Given the description of an element on the screen output the (x, y) to click on. 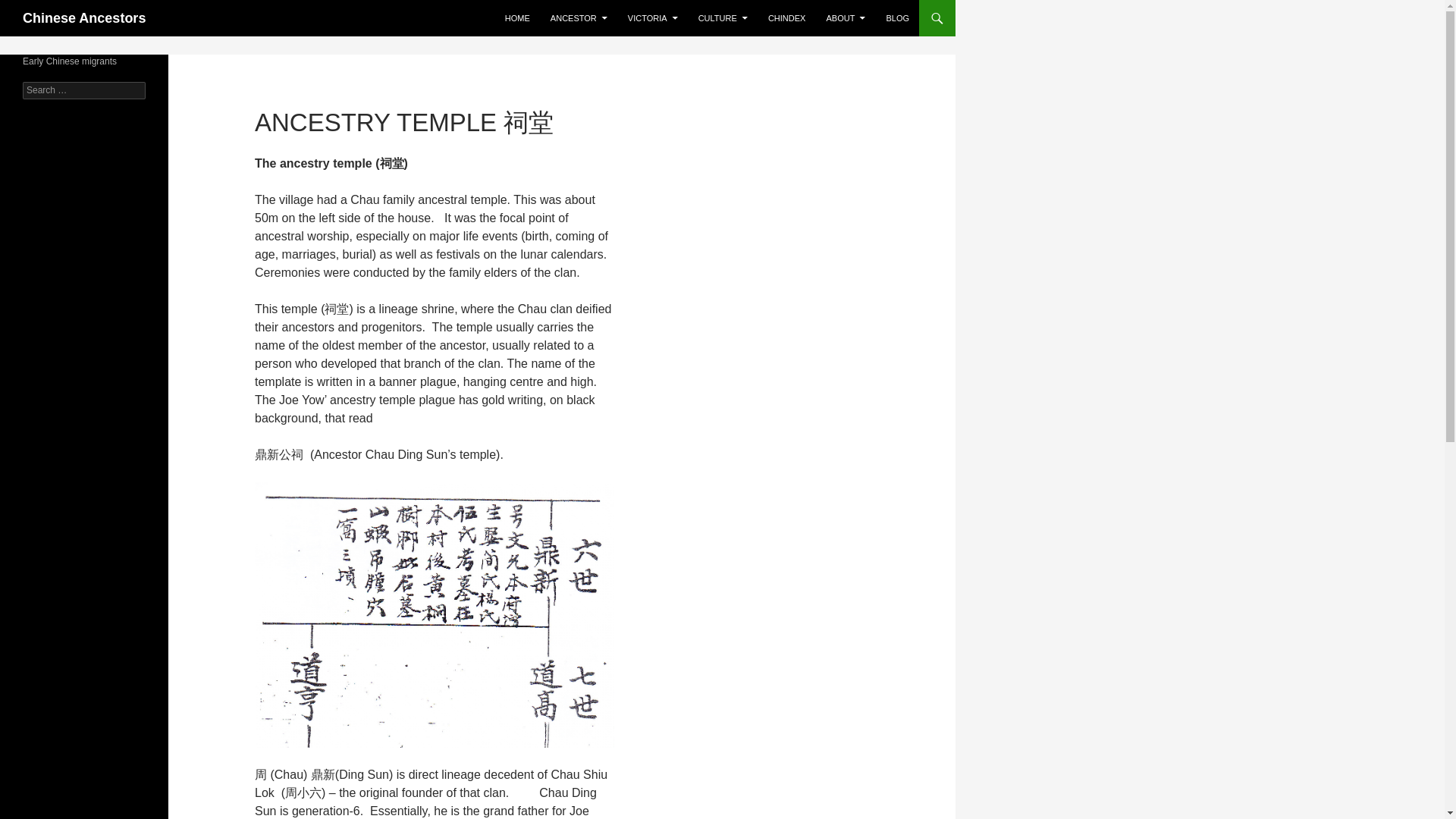
Chinese Ancestors (84, 18)
Chindex (786, 18)
ANCESTOR (578, 18)
HOME (517, 18)
